Given the description of an element on the screen output the (x, y) to click on. 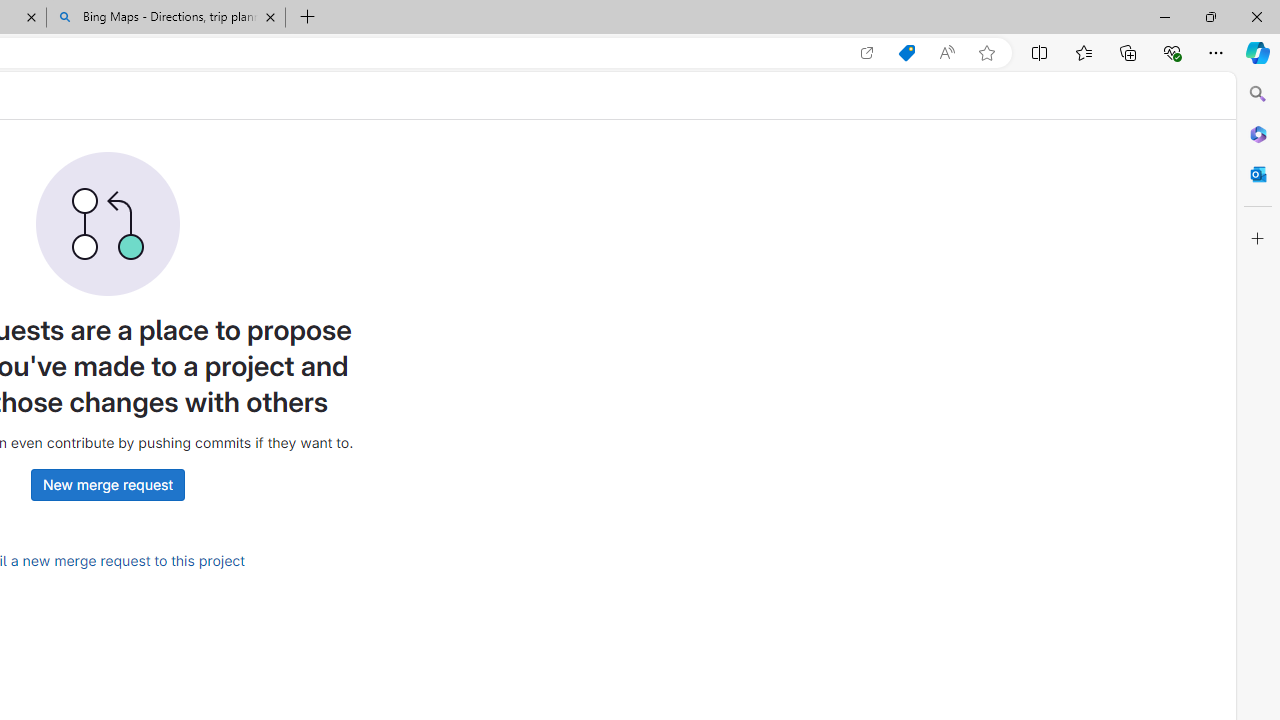
Open in app (867, 53)
Customize (1258, 239)
New merge request (107, 484)
Shopping in Microsoft Edge (906, 53)
